Given the description of an element on the screen output the (x, y) to click on. 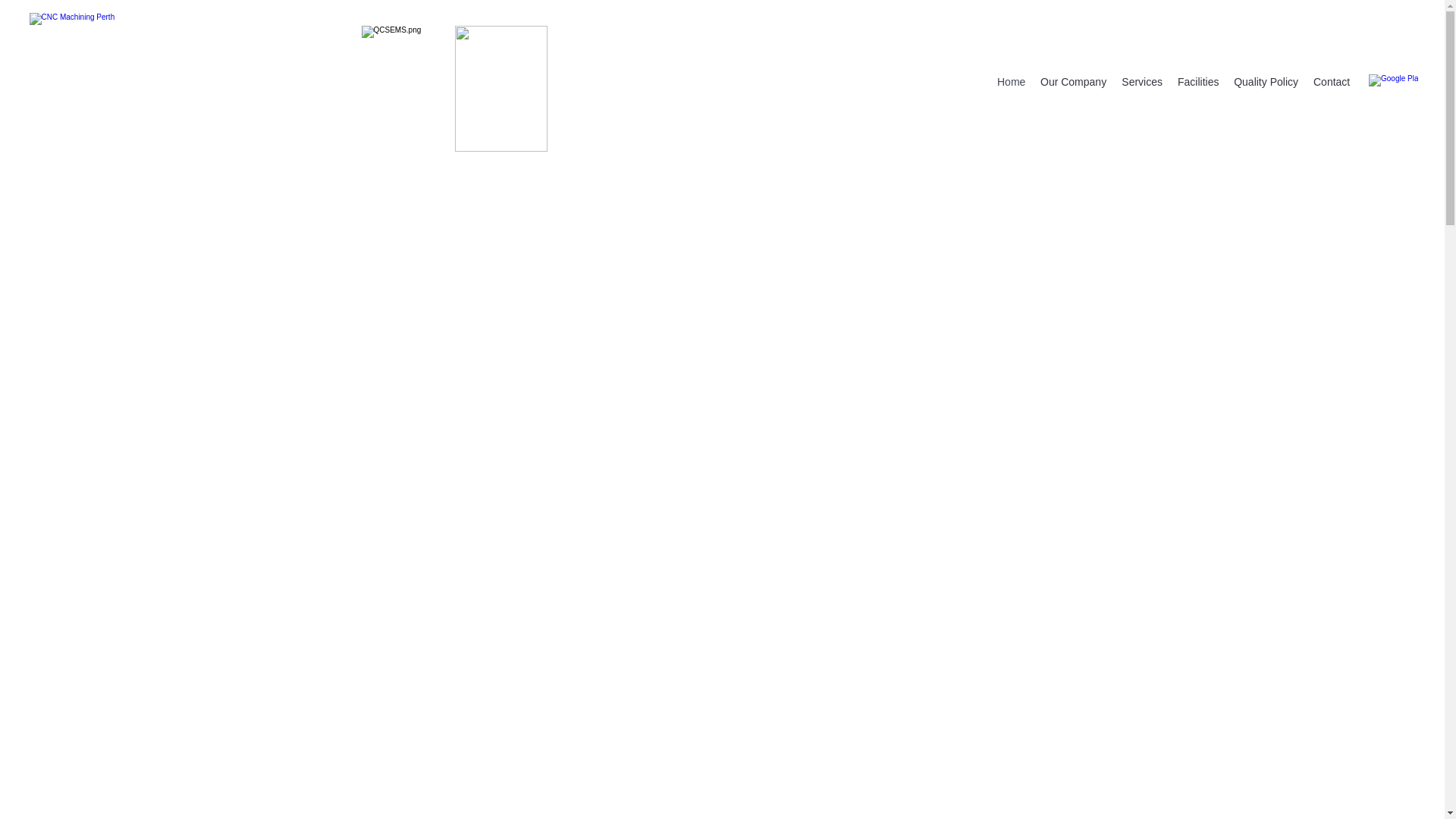
Home Element type: text (1010, 81)
Our Company Element type: text (1072, 81)
9001.jpg Element type: hover (501, 88)
Quality Policy Element type: text (1265, 81)
Contact Element type: text (1331, 81)
Facilities Element type: text (1198, 81)
Services Element type: text (1141, 81)
